Given the description of an element on the screen output the (x, y) to click on. 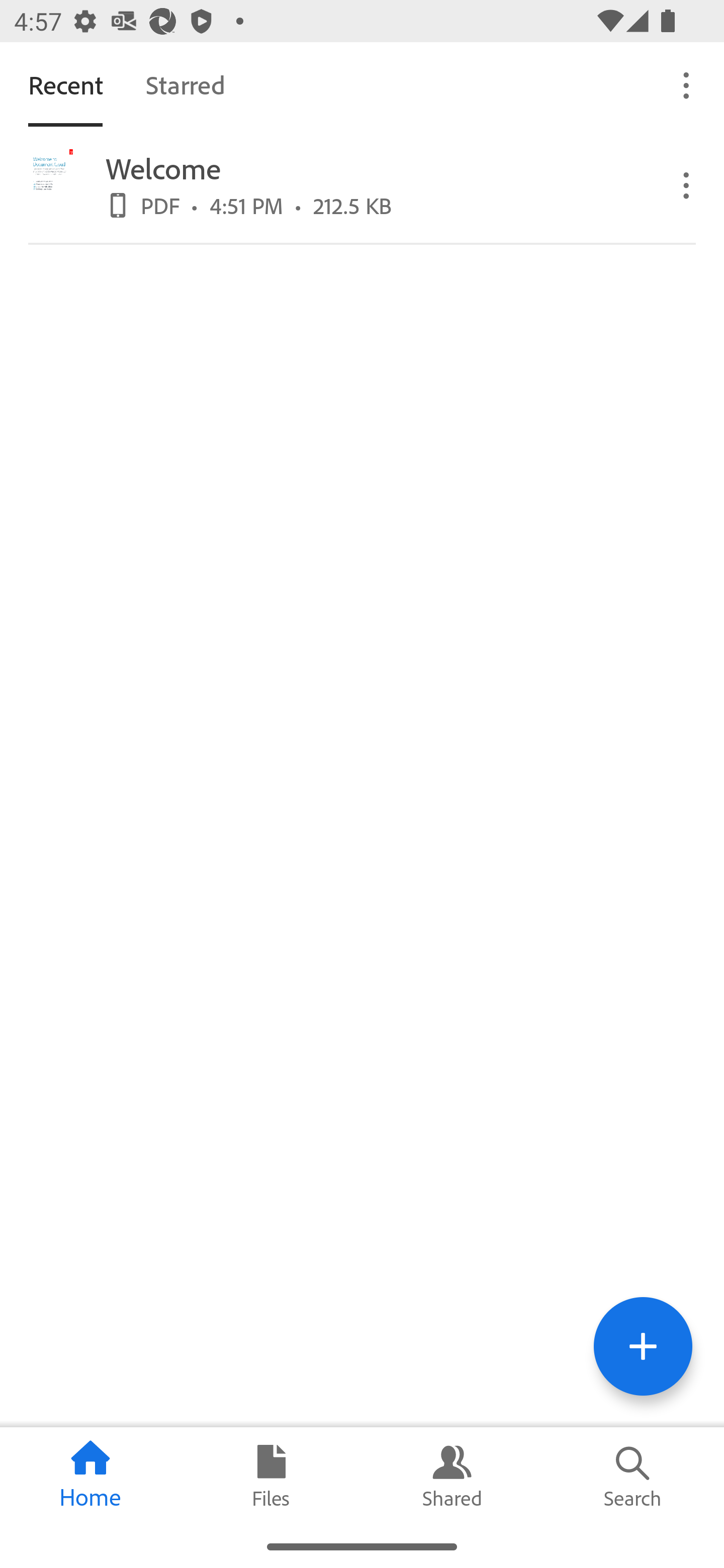
Recent (65, 84)
Starred (185, 84)
Overflow (687, 84)
Overflow (687, 184)
Tools (642, 1345)
Home (90, 1475)
Files (271, 1475)
Shared (452, 1475)
Search (633, 1475)
